Given the description of an element on the screen output the (x, y) to click on. 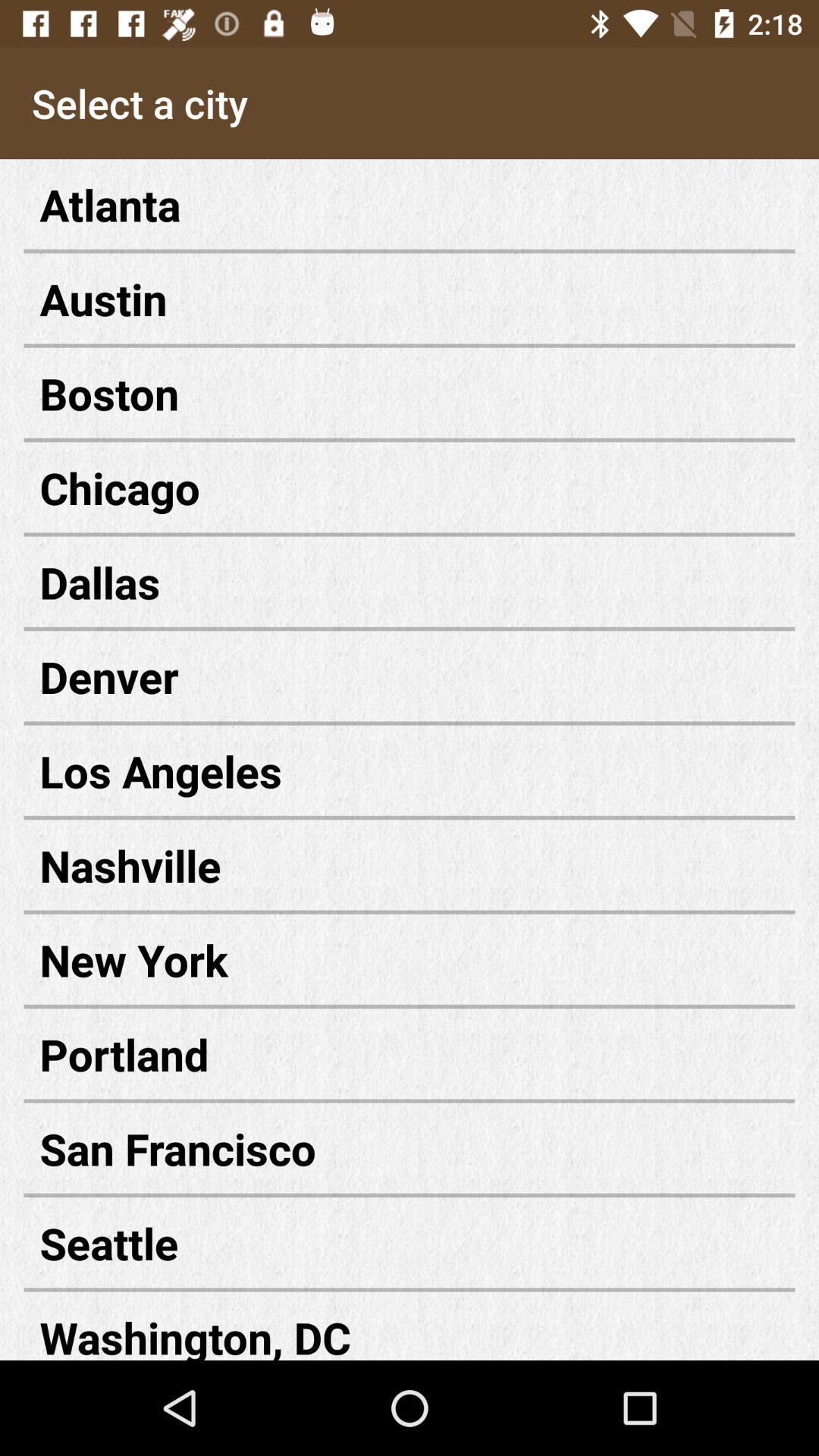
jump to new york (409, 959)
